Given the description of an element on the screen output the (x, y) to click on. 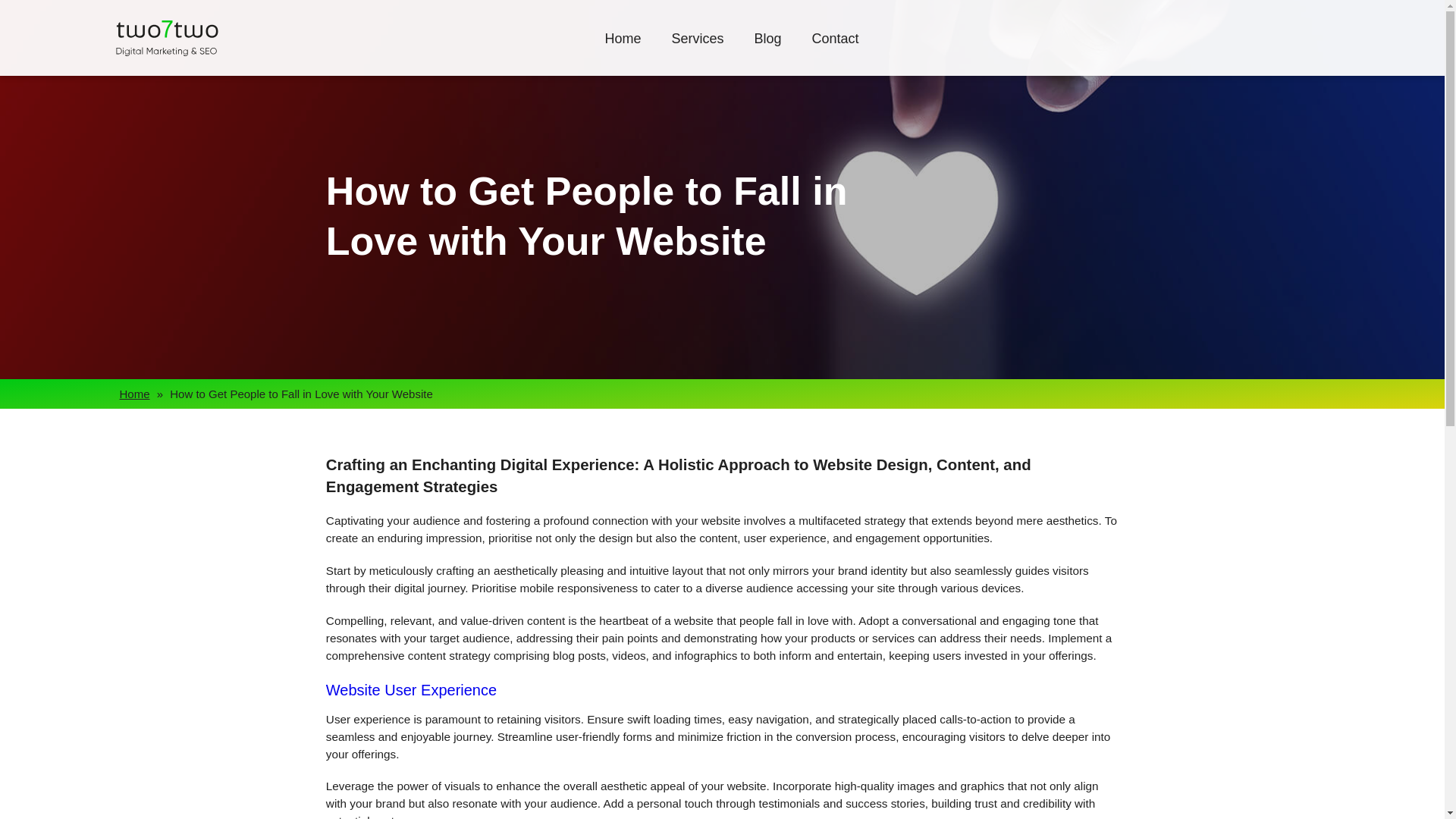
Contact (835, 53)
Home (134, 393)
Call us on 01277 532550 (1284, 37)
Services (697, 53)
Blog (767, 53)
Website User Experience (411, 689)
Home (622, 53)
